Given the description of an element on the screen output the (x, y) to click on. 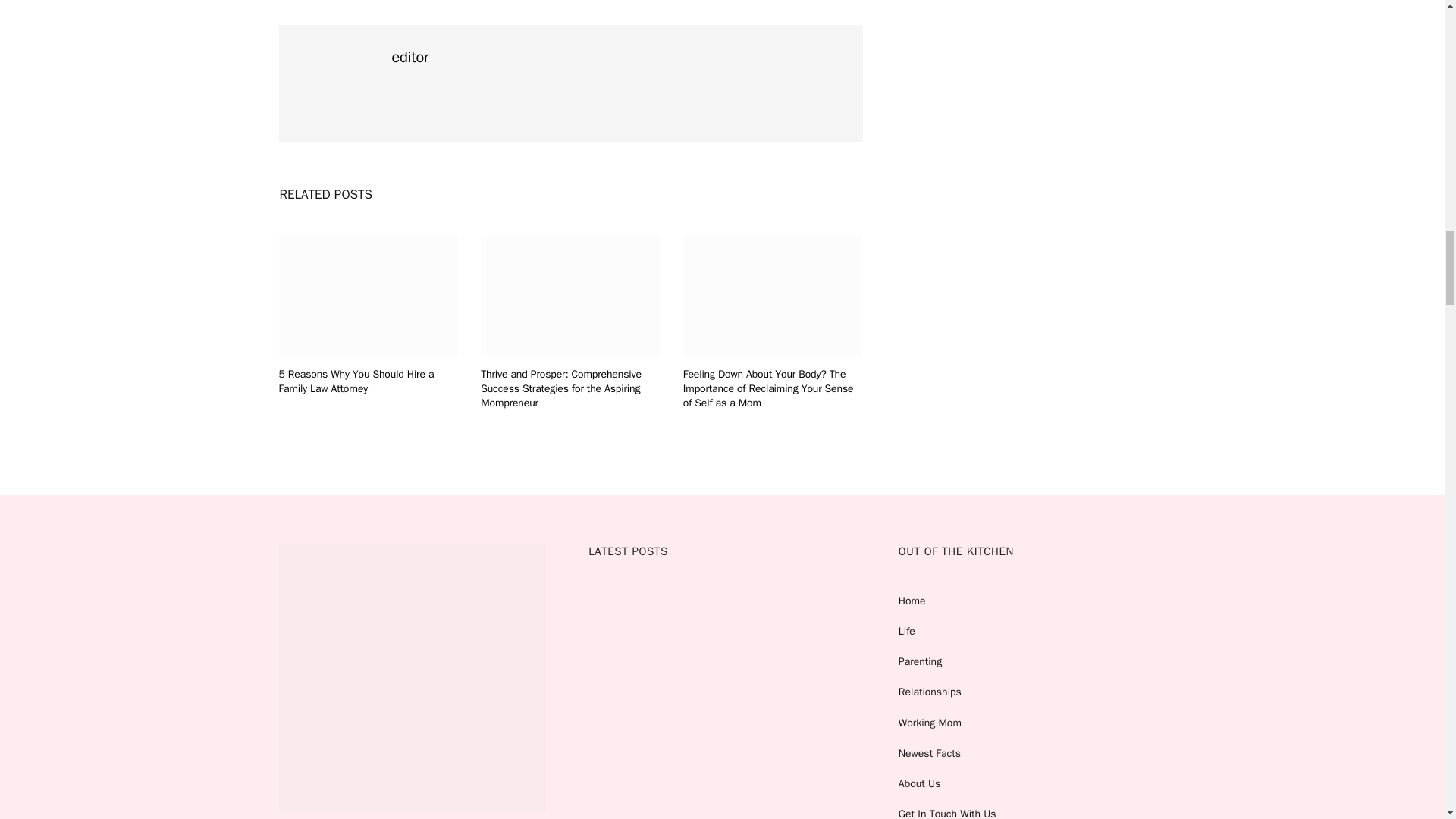
LATEST POSTS (722, 681)
editor (409, 56)
5 Reasons Why You Should Hire a Family Law Attorney (356, 380)
Posts by editor (409, 56)
